Given the description of an element on the screen output the (x, y) to click on. 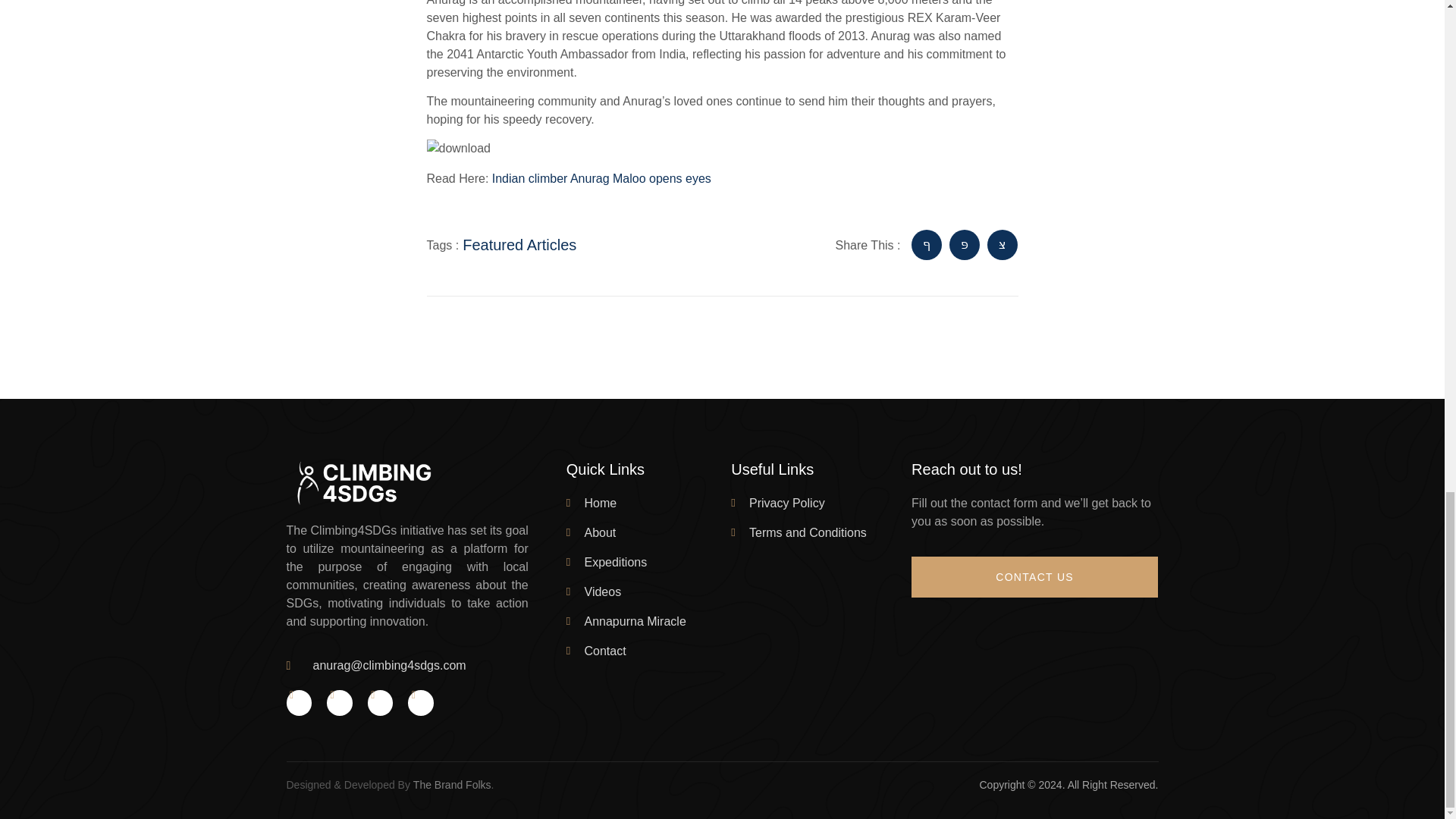
Videos (644, 592)
Expeditions (644, 562)
About (644, 533)
Annapurna Miracle (644, 621)
Indian climber Anurag Maloo opens eyes (601, 178)
Home (644, 503)
